Given the description of an element on the screen output the (x, y) to click on. 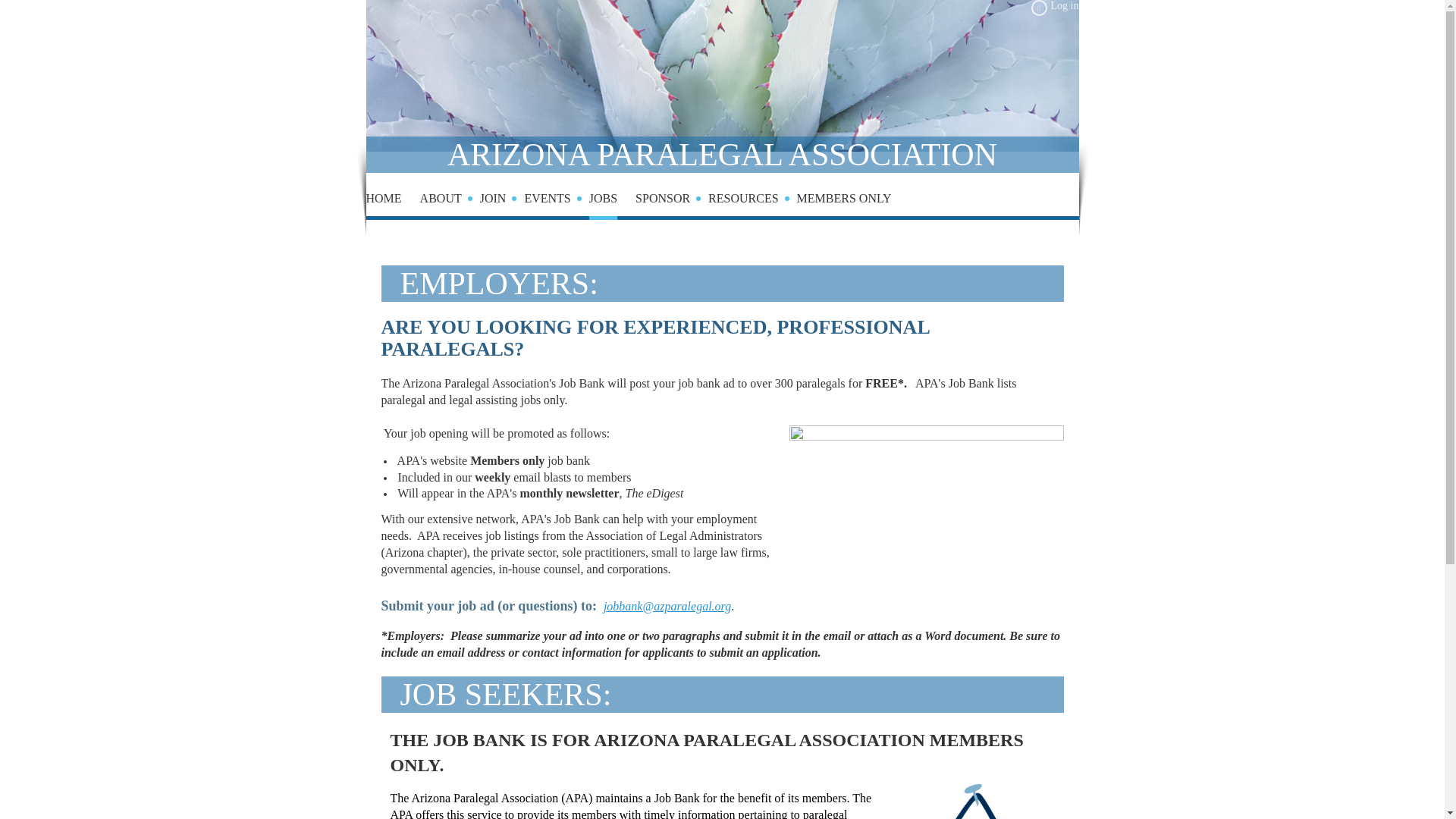
HOME (392, 202)
RESOURCES (751, 202)
Home (392, 202)
About (450, 202)
SPONSOR (670, 202)
MEMBERS ONLY (843, 202)
Join (502, 202)
JOBS (611, 202)
JOBS (611, 202)
Log in (1054, 7)
